Given the description of an element on the screen output the (x, y) to click on. 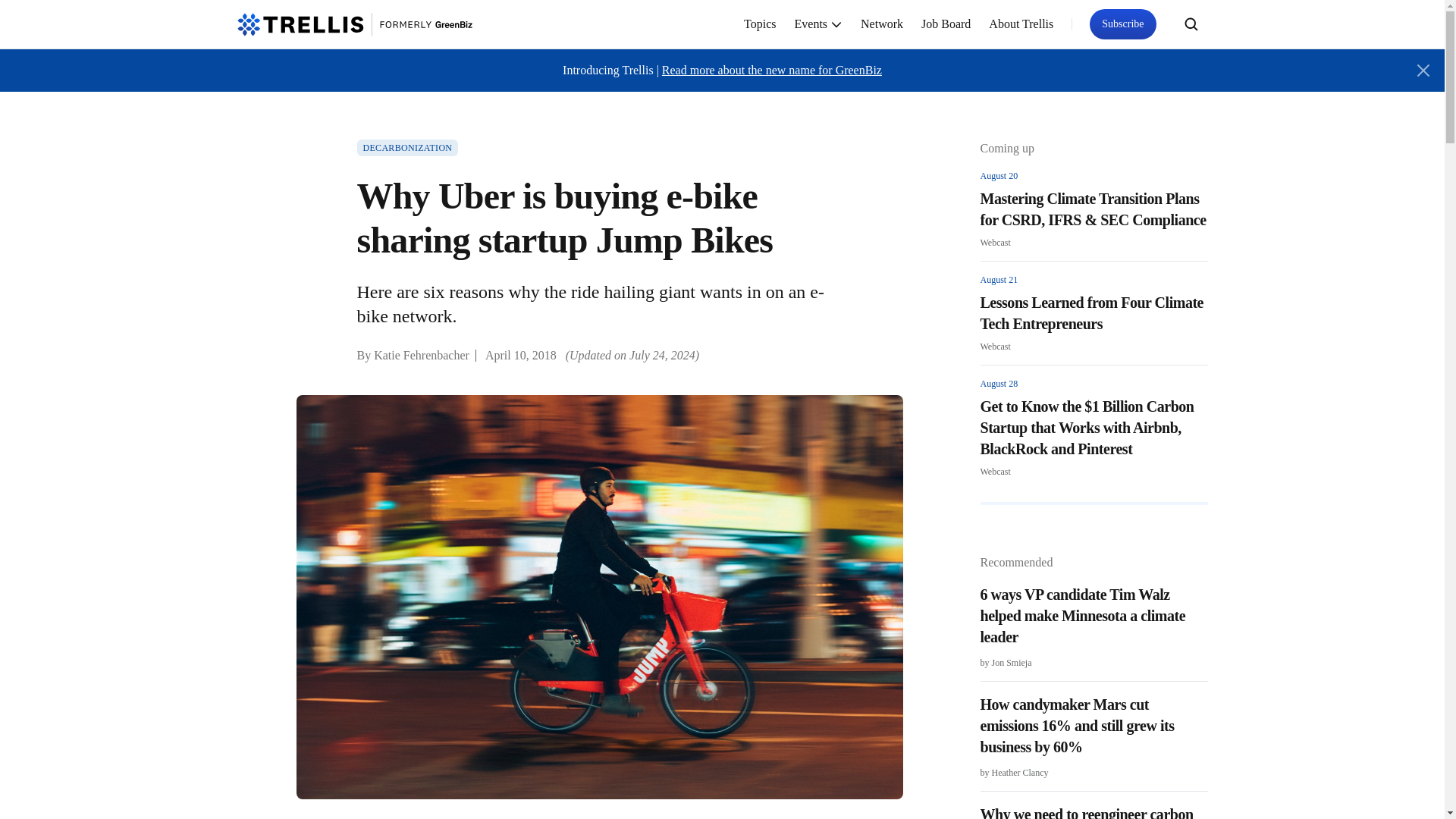
Job Board (945, 24)
About Trellis (1020, 24)
Topics (759, 24)
DECARBONIZATION (407, 147)
Read more about the new name for GreenBiz (772, 70)
Network (881, 24)
Subscribe (1122, 24)
Katie Fehrenbacher (421, 354)
Events (818, 24)
